Given the description of an element on the screen output the (x, y) to click on. 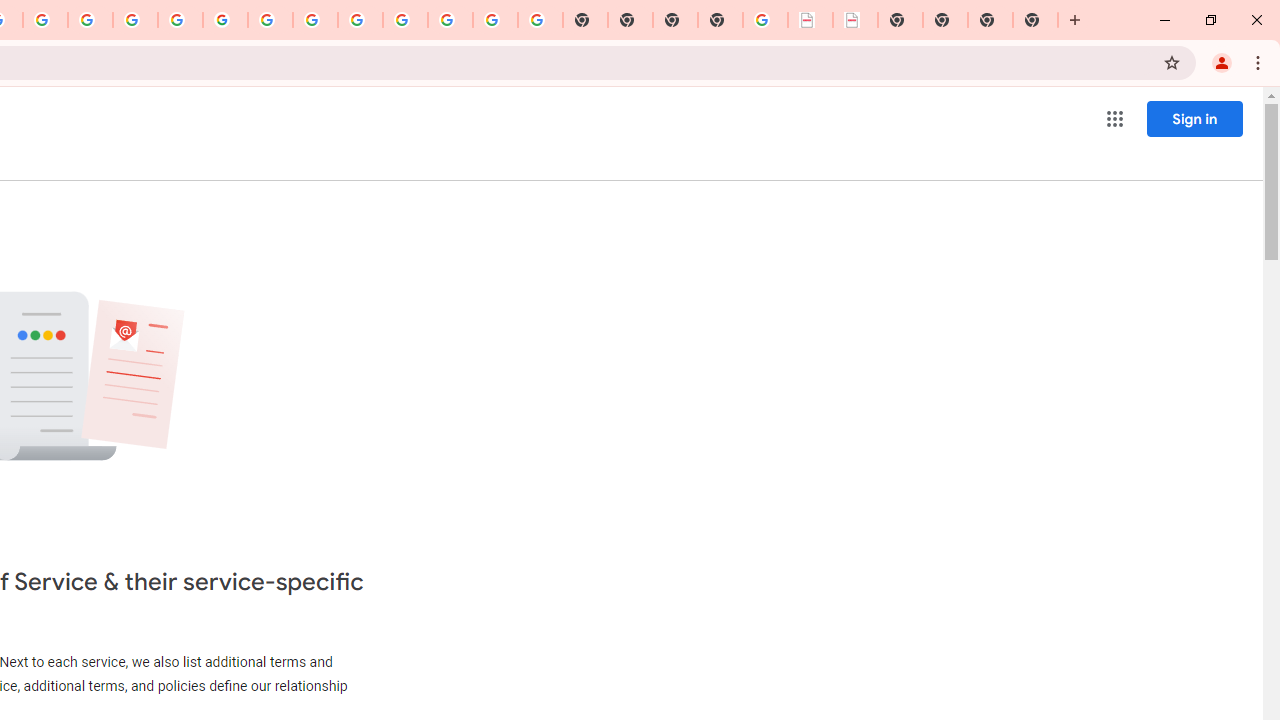
New Tab (720, 20)
BAE Systems Brasil | BAE Systems (855, 20)
Privacy Help Center - Policies Help (89, 20)
